Given the description of an element on the screen output the (x, y) to click on. 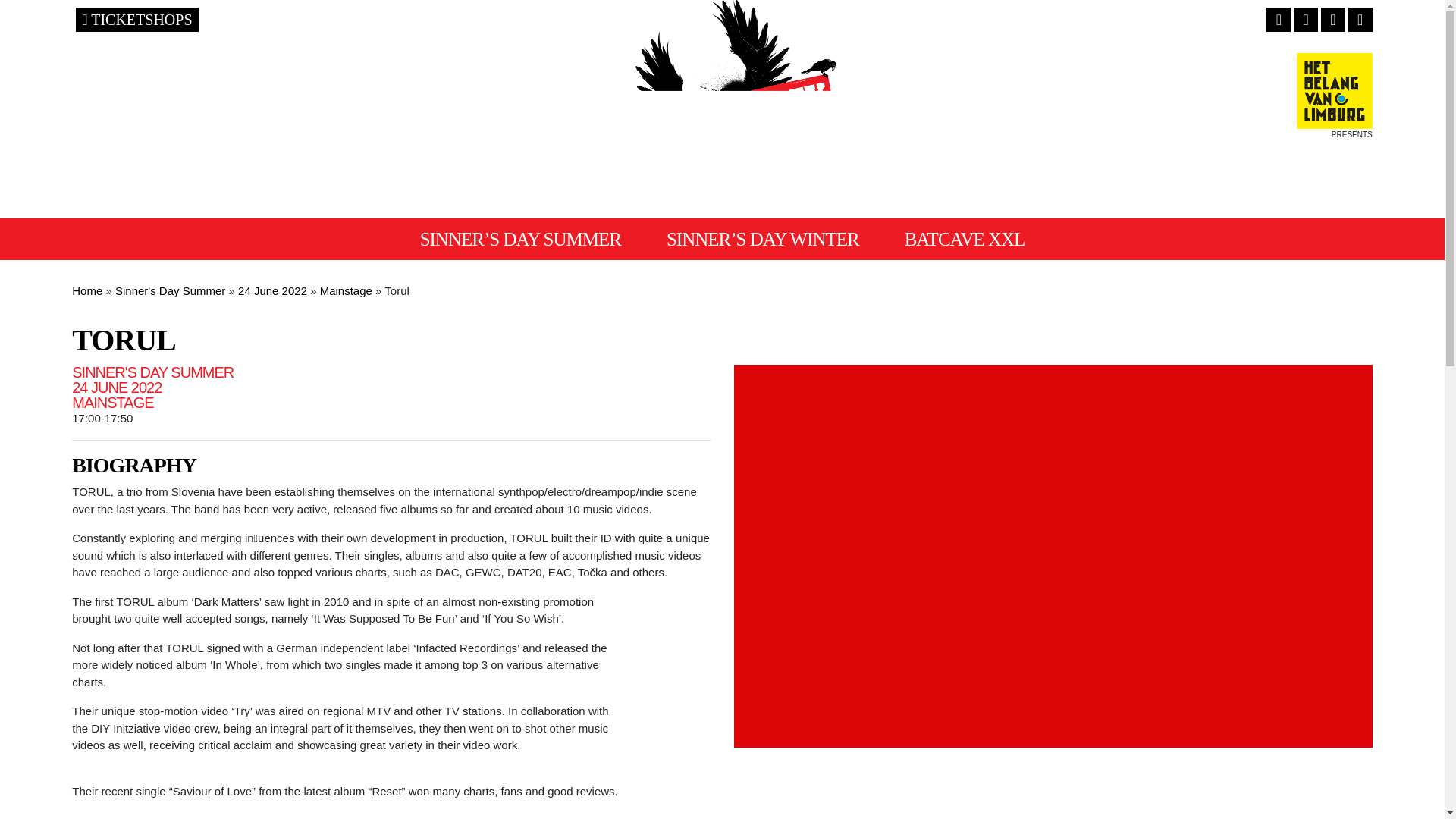
BATCAVE XXL (965, 239)
TICKETSHOPS (136, 19)
Sinner's Day Summer (170, 289)
24 June 2022 (272, 289)
Home (86, 289)
Mainstage (346, 289)
Tickets (136, 19)
